Given the description of an element on the screen output the (x, y) to click on. 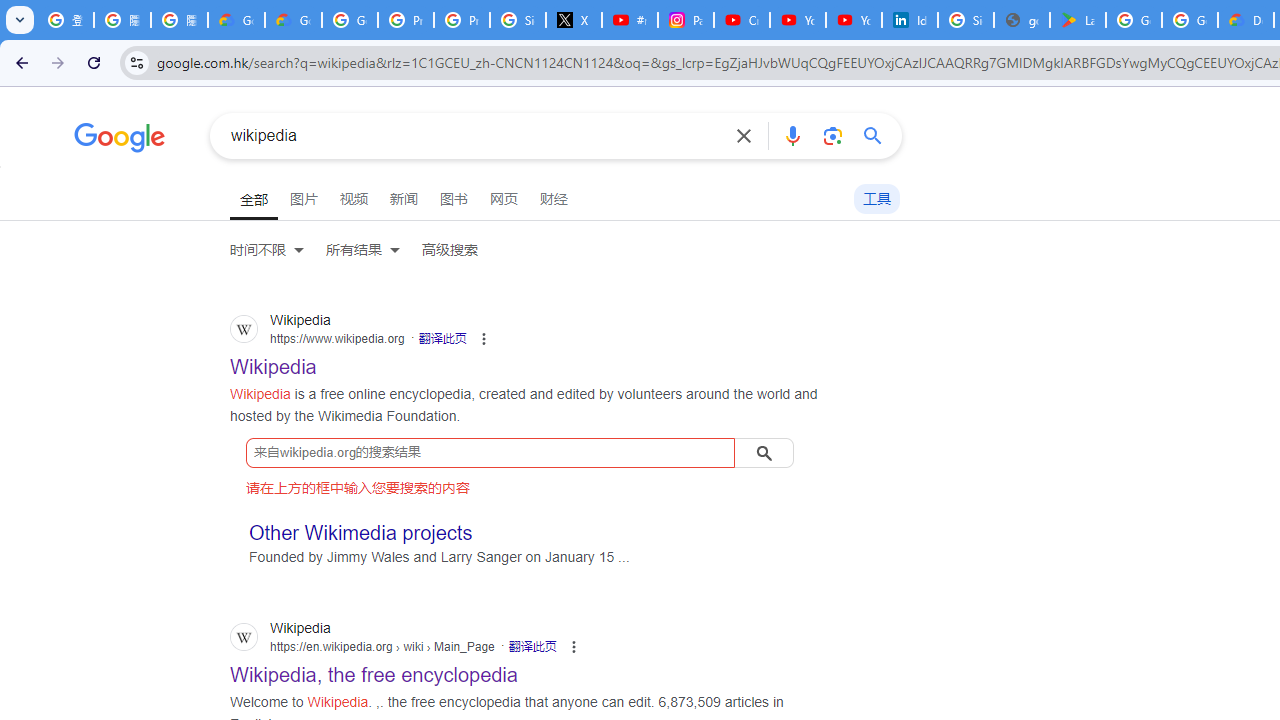
#nbabasketballhighlights - YouTube (629, 20)
X (573, 20)
Sign in - Google Accounts (518, 20)
